Given the description of an element on the screen output the (x, y) to click on. 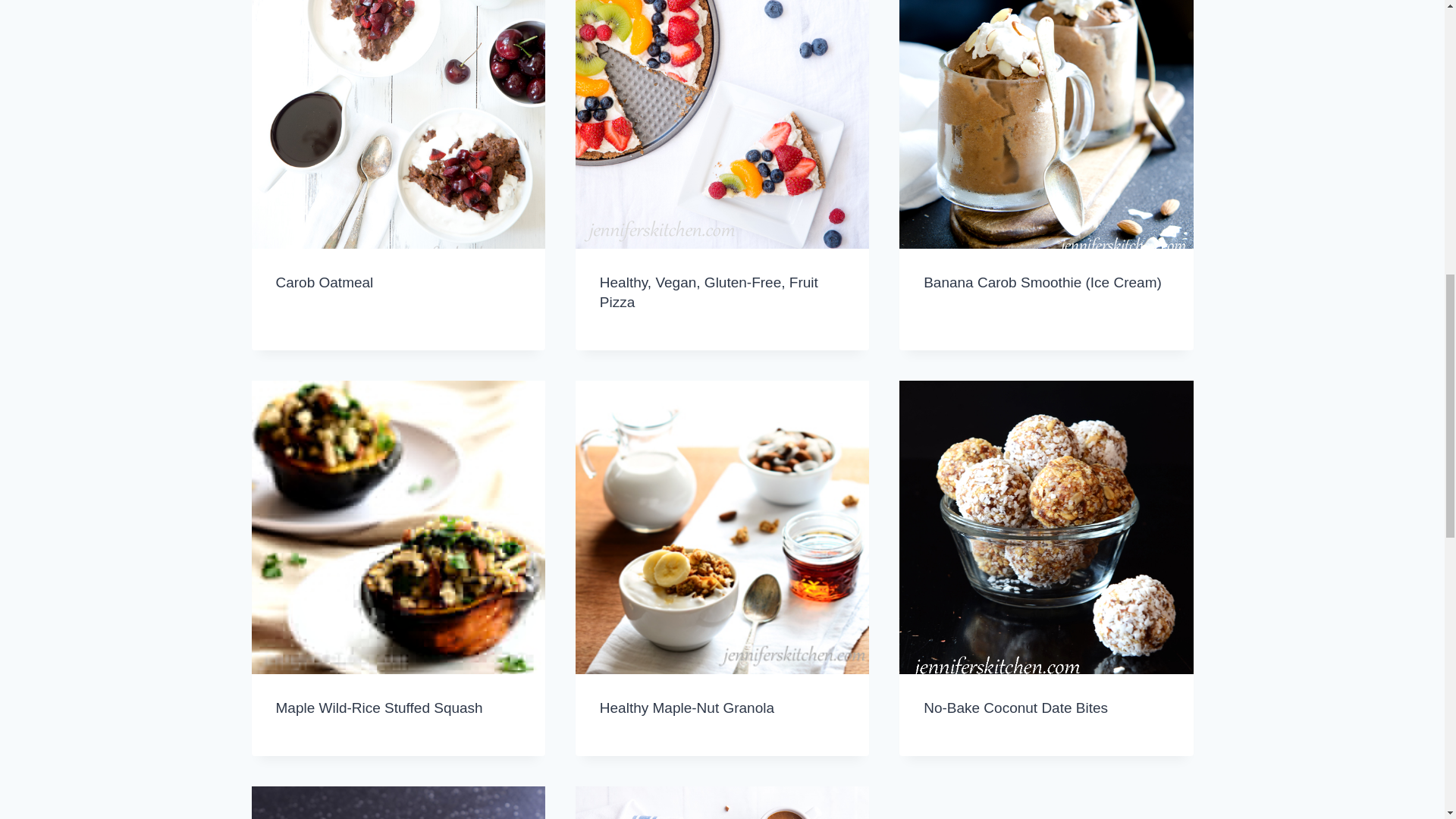
Maple Wild-Rice Stuffed Squash (379, 707)
Healthy, Vegan, Gluten-Free, Fruit Pizza (708, 292)
Carob Oatmeal (325, 282)
